Given the description of an element on the screen output the (x, y) to click on. 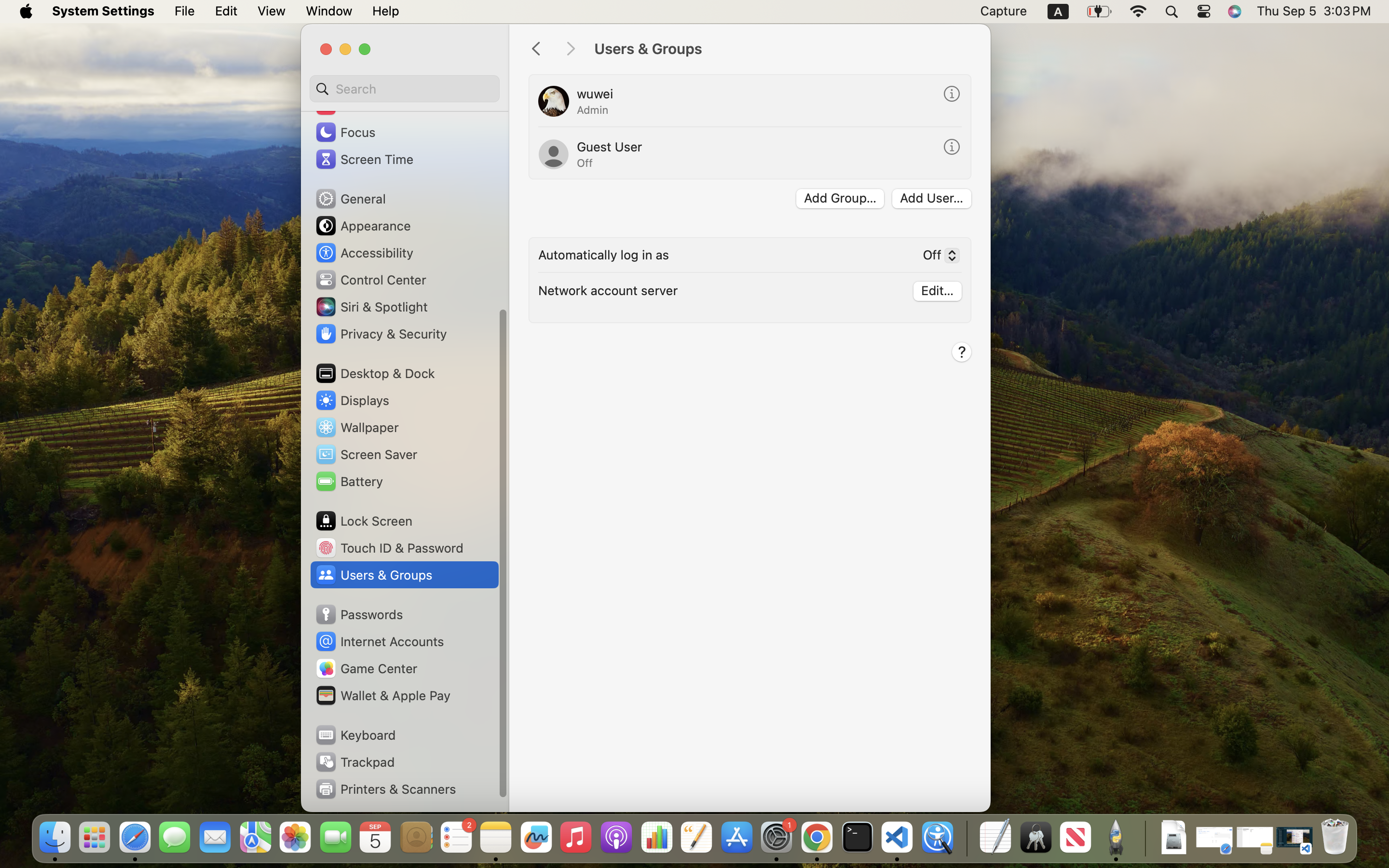
Screen Saver Element type: AXStaticText (365, 453)
Siri & Spotlight Element type: AXStaticText (370, 306)
